Given the description of an element on the screen output the (x, y) to click on. 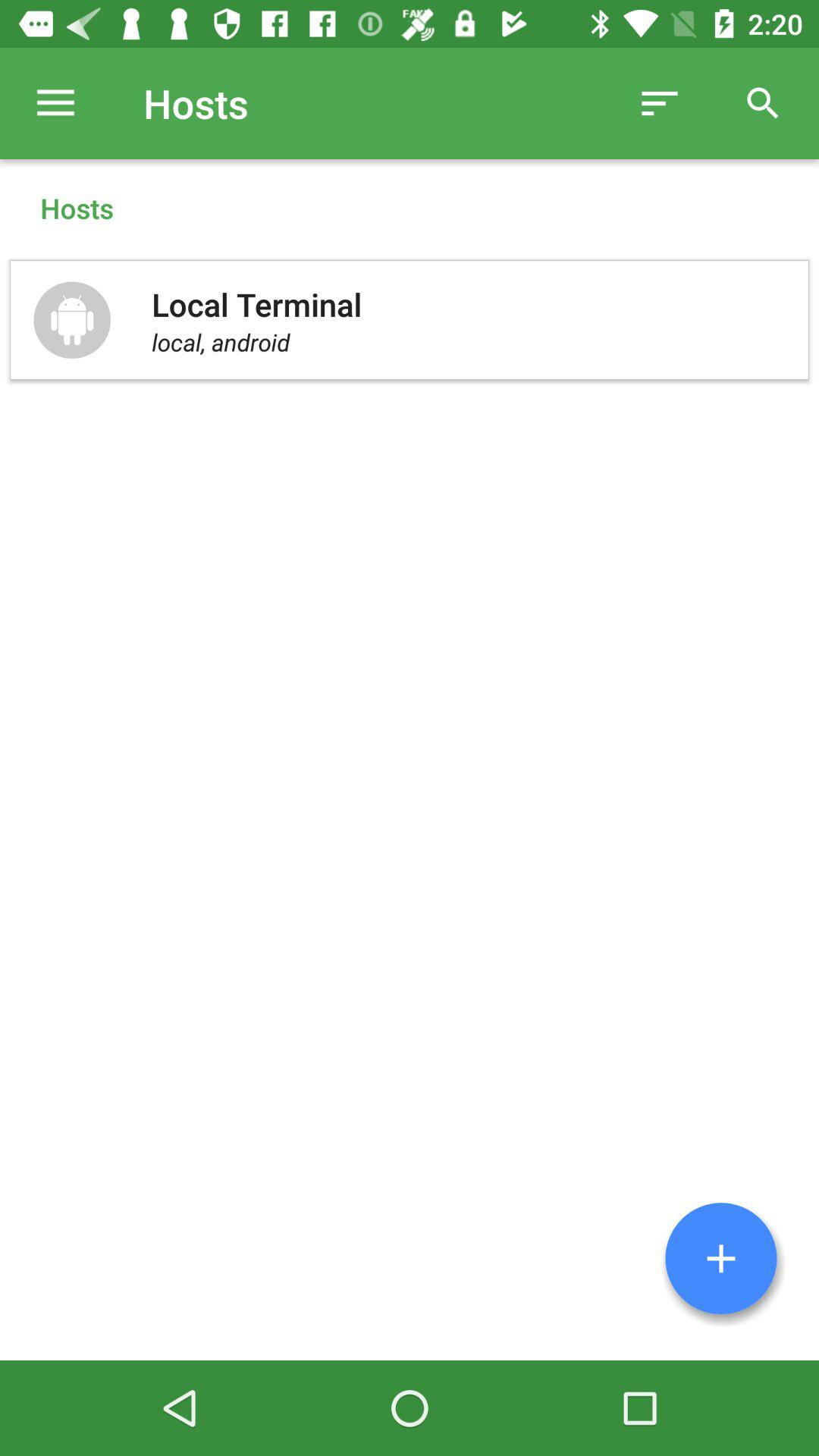
add terminal (721, 1258)
